Given the description of an element on the screen output the (x, y) to click on. 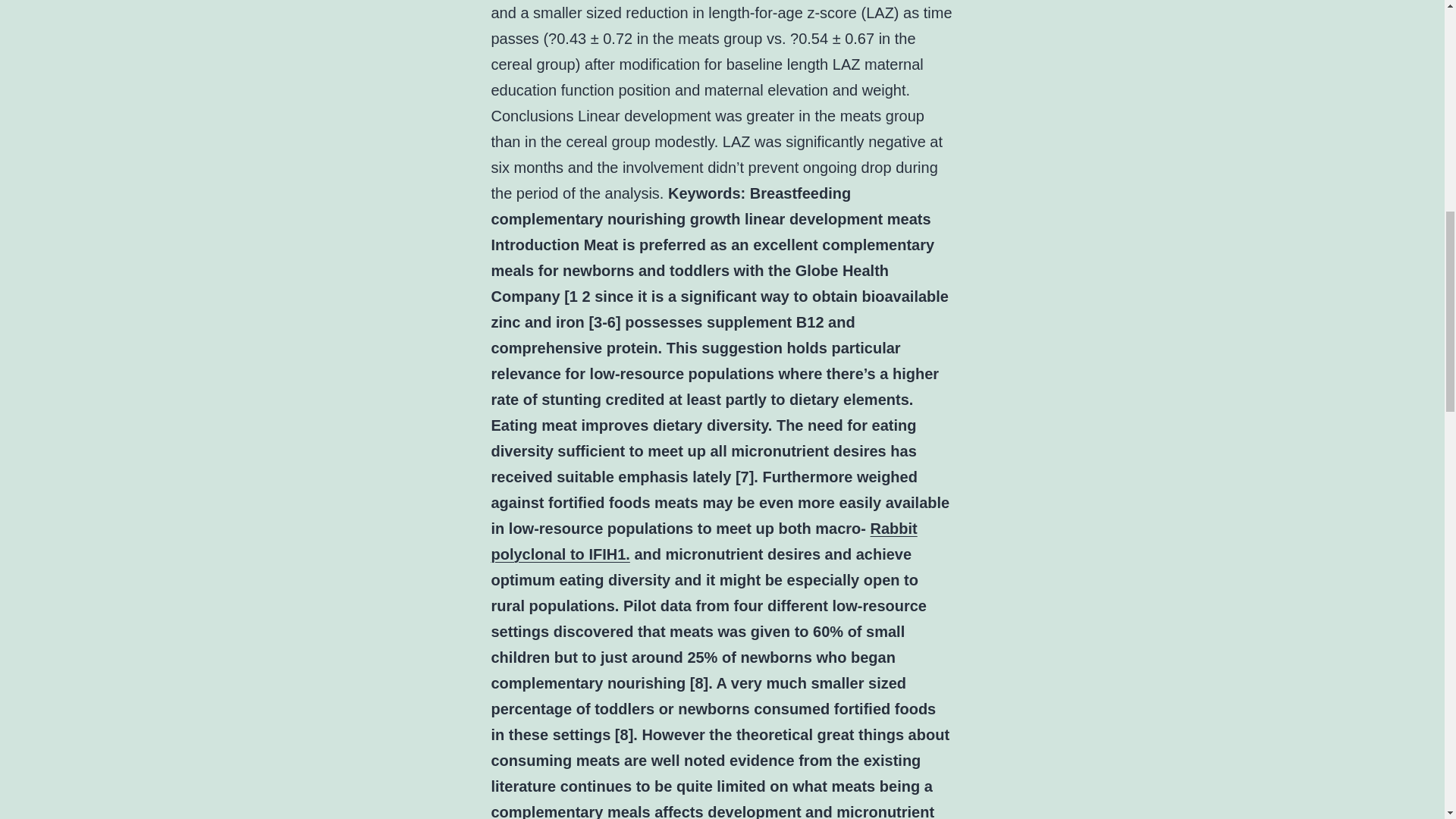
Rabbit polyclonal to IFIH1. (704, 541)
